Given the description of an element on the screen output the (x, y) to click on. 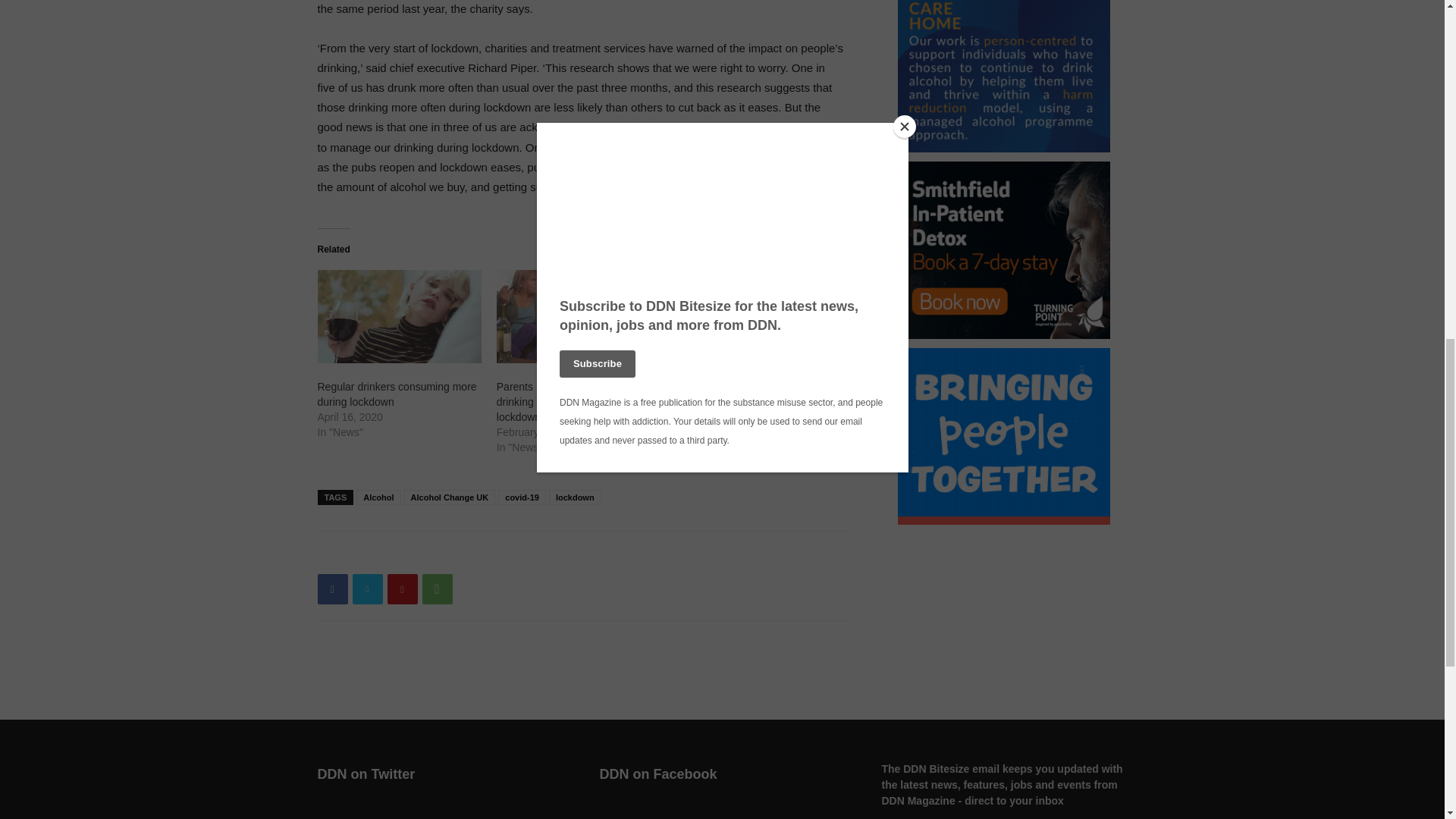
Facebook (332, 589)
Pinterest (401, 589)
WhatsApp (436, 589)
Twitter (366, 589)
Regular drinkers consuming more during lockdown (398, 316)
Regular drinkers consuming more during lockdown (396, 393)
